Given the description of an element on the screen output the (x, y) to click on. 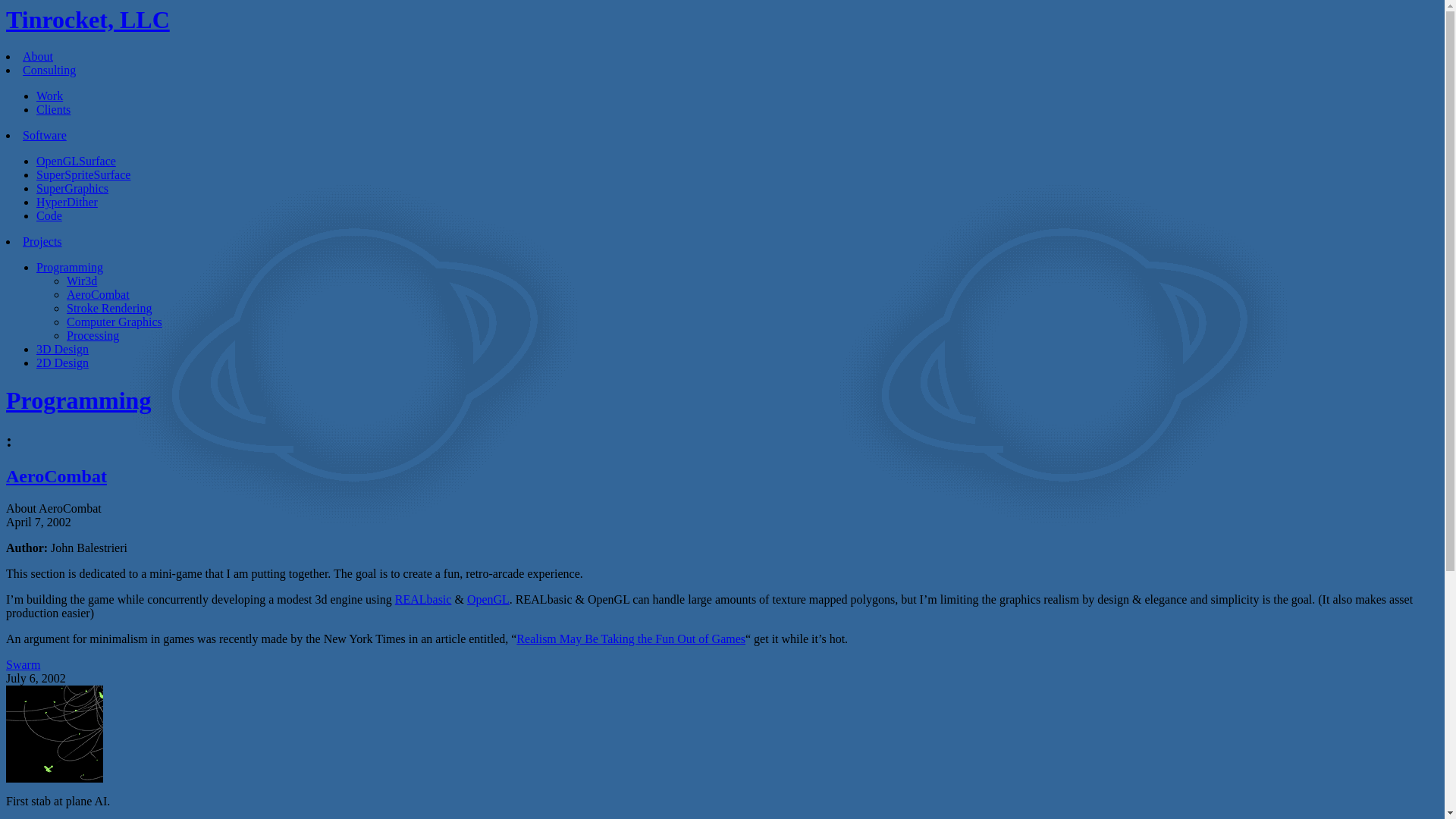
Realism May Be Taking the Fun Out of Games (630, 638)
Consulting (49, 69)
SuperSpriteSurface (83, 174)
OpenGLSurface (76, 160)
SuperGraphics (71, 187)
AeroCombat (721, 476)
Programming (721, 400)
3D Design (62, 349)
OpenGL (488, 599)
Stroke Rendering (108, 308)
